Given the description of an element on the screen output the (x, y) to click on. 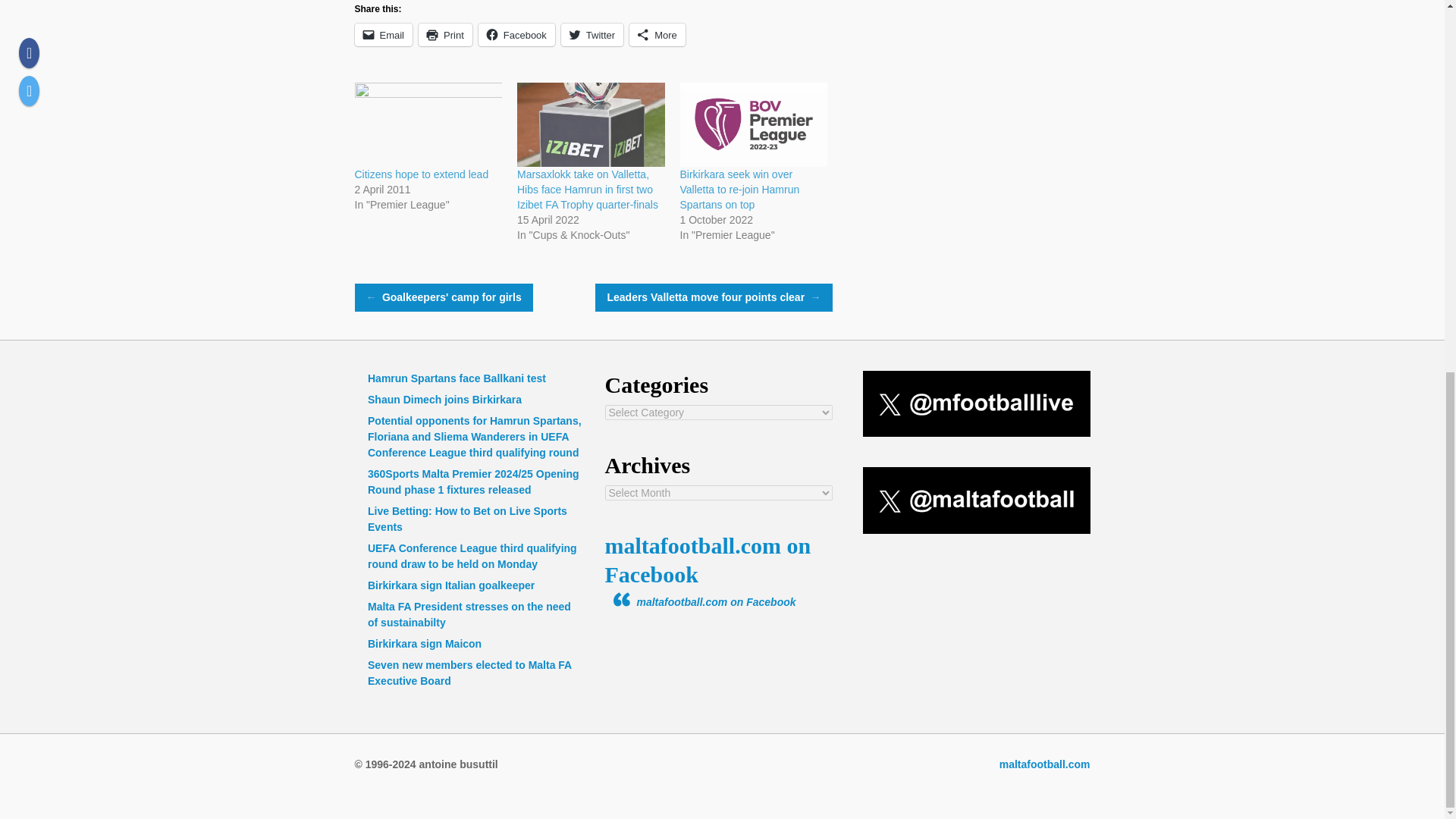
Click to print (445, 34)
Citizens hope to extend lead (428, 124)
Click to share on Facebook (516, 34)
Citizens hope to extend lead (422, 174)
Click to share on Twitter (591, 34)
Click to email a link to a friend (384, 34)
